Given the description of an element on the screen output the (x, y) to click on. 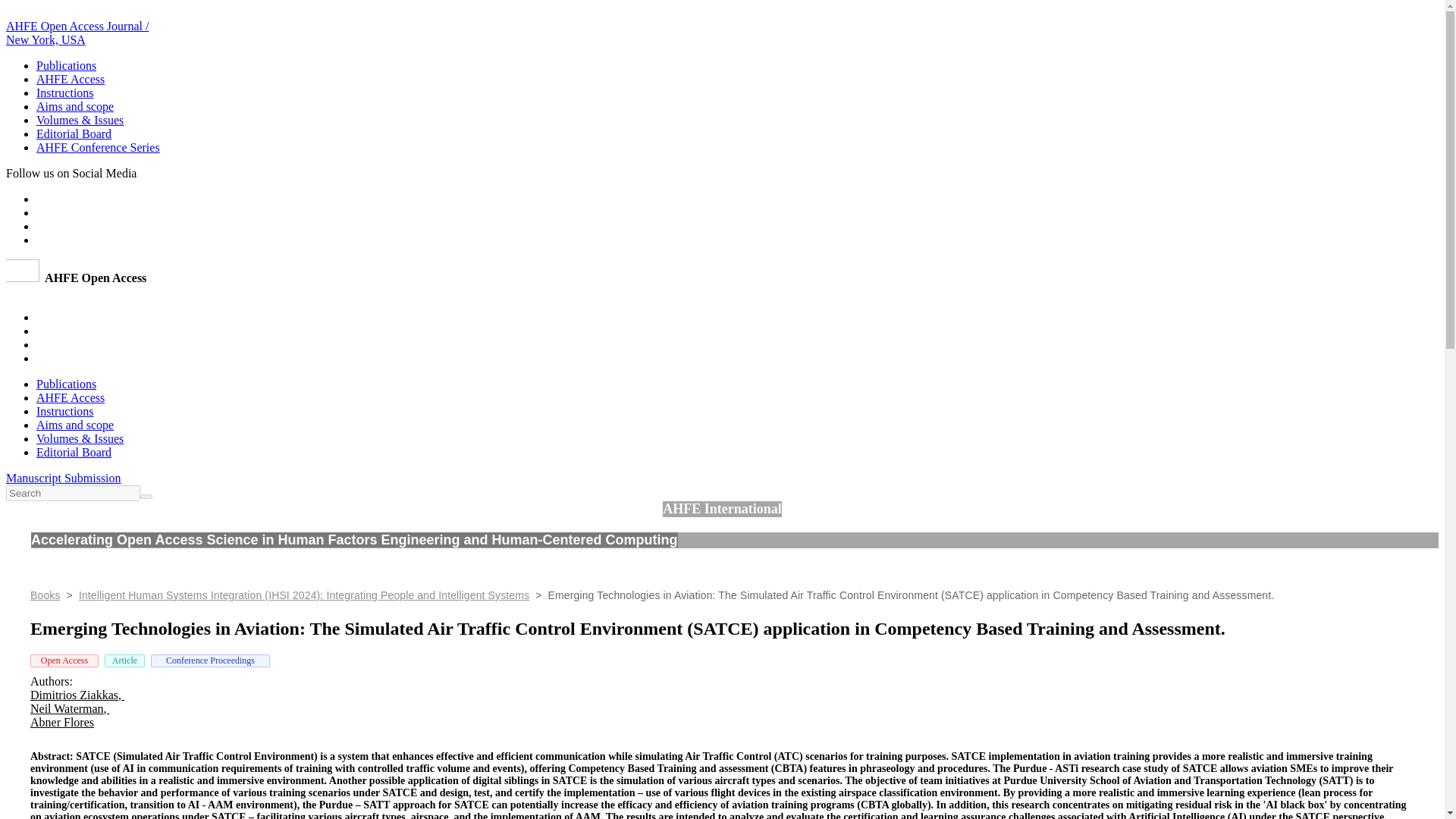
Instructions (65, 92)
AHFE Access (70, 78)
Books (45, 594)
Editorial Board (74, 133)
Aims and scope (74, 424)
AHFE Access (70, 397)
Aims and scope (74, 106)
Instructions (65, 410)
Manuscript Submission (62, 477)
AHFE Conference Series (98, 146)
Editorial Board (74, 451)
Publications (66, 65)
Publications (66, 383)
